Given the description of an element on the screen output the (x, y) to click on. 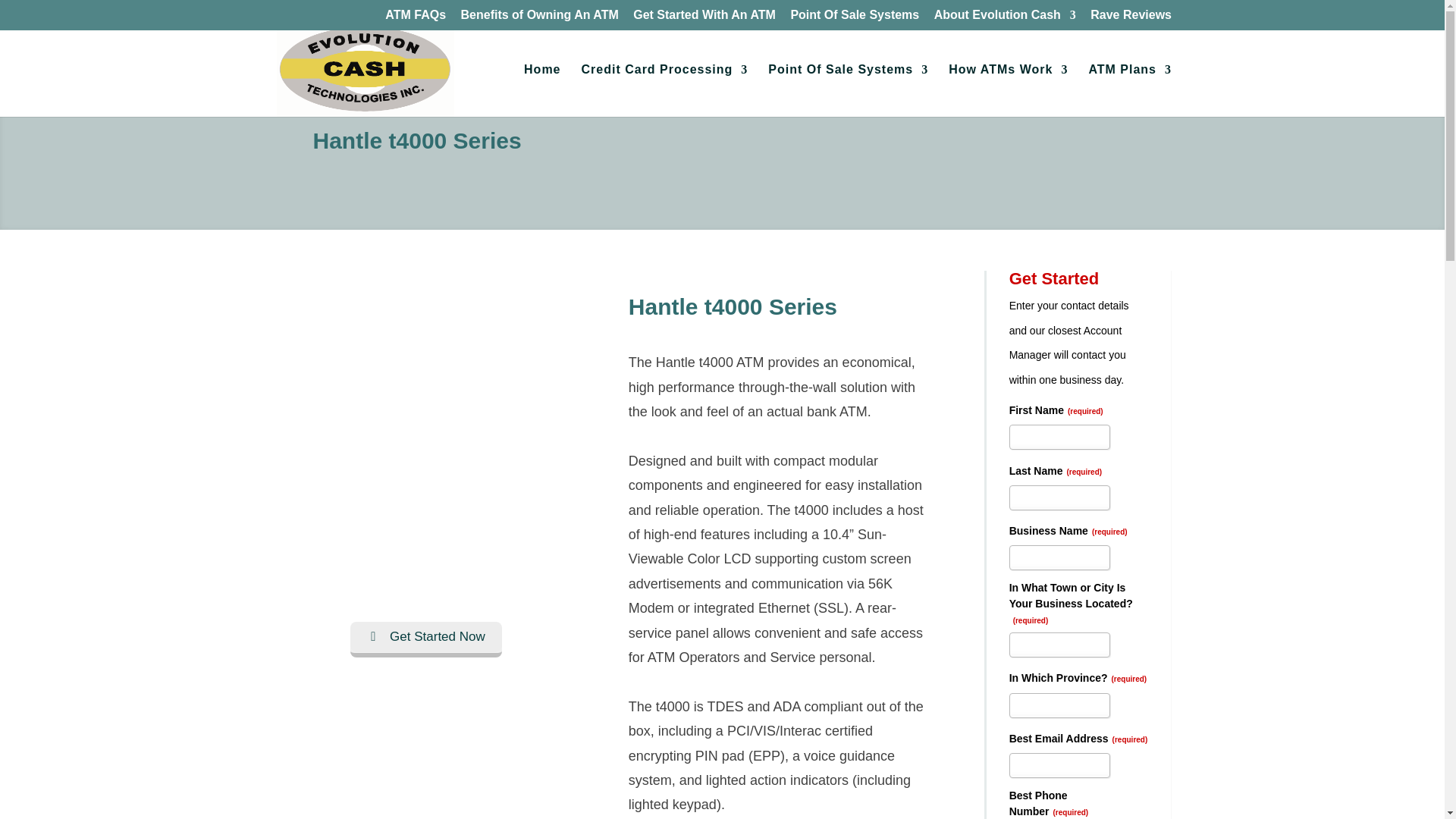
Home (1129, 90)
ATM FAQs (415, 19)
About Evolution Cash (1004, 19)
Rave Reviews (1131, 19)
Benefits of Owning An ATM (539, 19)
Get Started With An ATM (704, 19)
Point Of Sale Systems (854, 19)
Point Of Sale Systems (848, 90)
Why Choose Evolution Cash ATMs (1131, 19)
Credit Card Processing (664, 90)
